Given the description of an element on the screen output the (x, y) to click on. 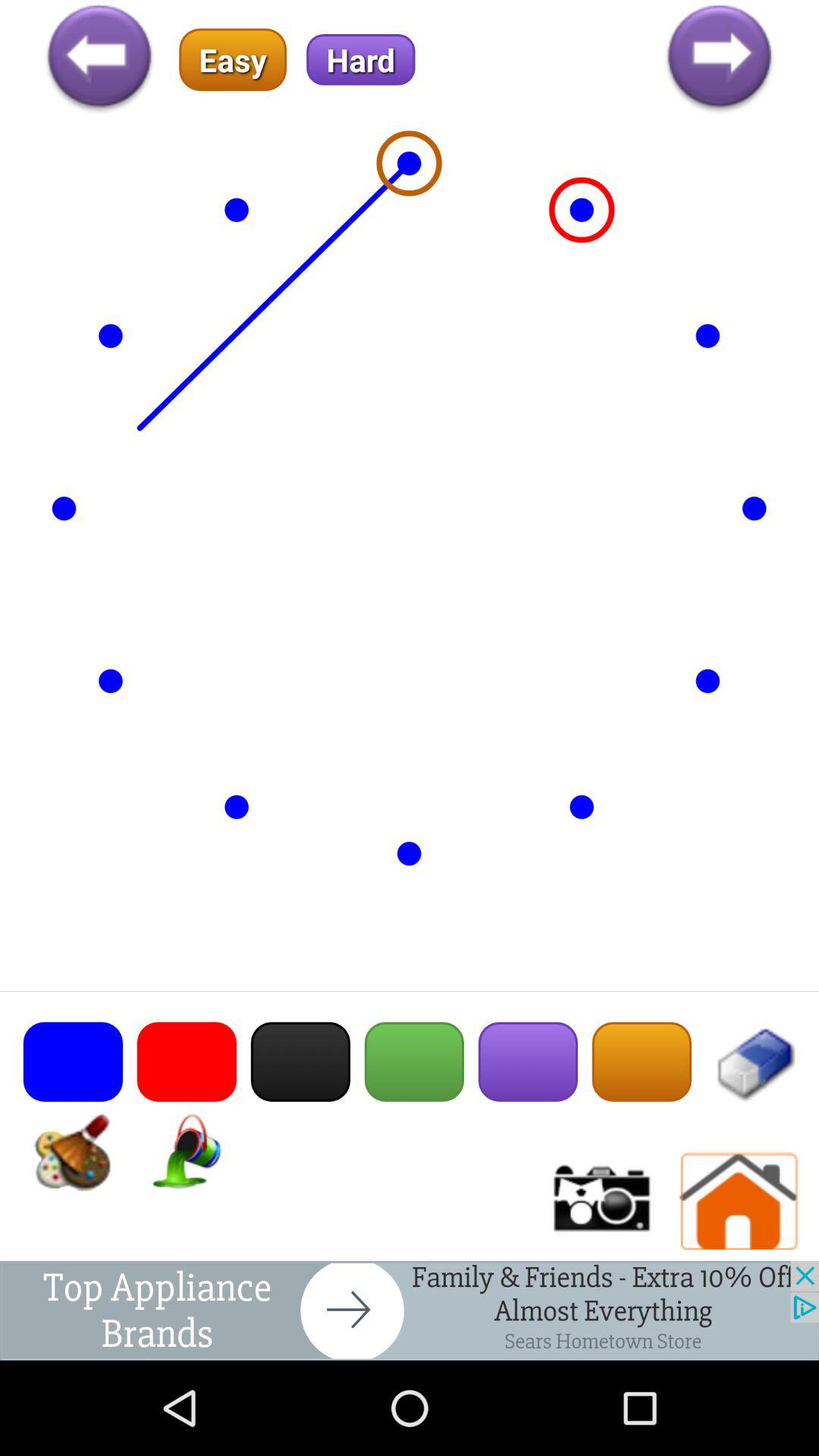
click back arrow to go back a page (99, 59)
